Given the description of an element on the screen output the (x, y) to click on. 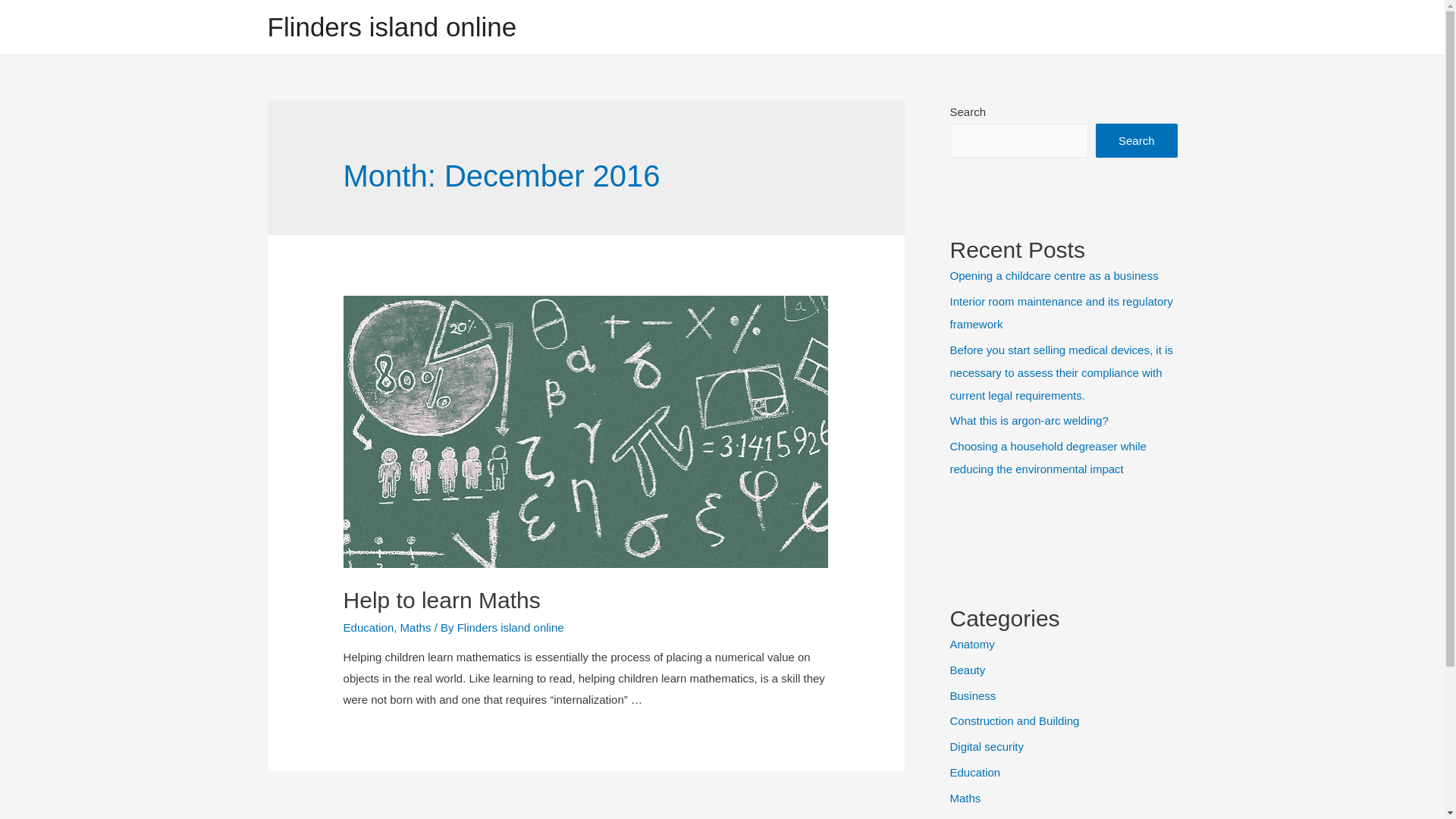
Opening a childcare centre as a business Element type: text (1053, 275)
Flinders island online Element type: text (510, 627)
Beauty Element type: text (967, 669)
Digital security Element type: text (986, 746)
Business Element type: text (972, 694)
Maths Element type: text (964, 797)
Help to learn Maths Element type: text (441, 599)
Search Element type: text (1136, 140)
Education Element type: text (974, 771)
Education Element type: text (368, 627)
What this is argon-arc welding? Element type: text (1028, 420)
Interior room maintenance and its regulatory framework Element type: text (1060, 312)
Flinders island online Element type: text (391, 26)
Maths Element type: text (415, 627)
Anatomy Element type: text (971, 643)
Construction and Building Element type: text (1014, 720)
